Given the description of an element on the screen output the (x, y) to click on. 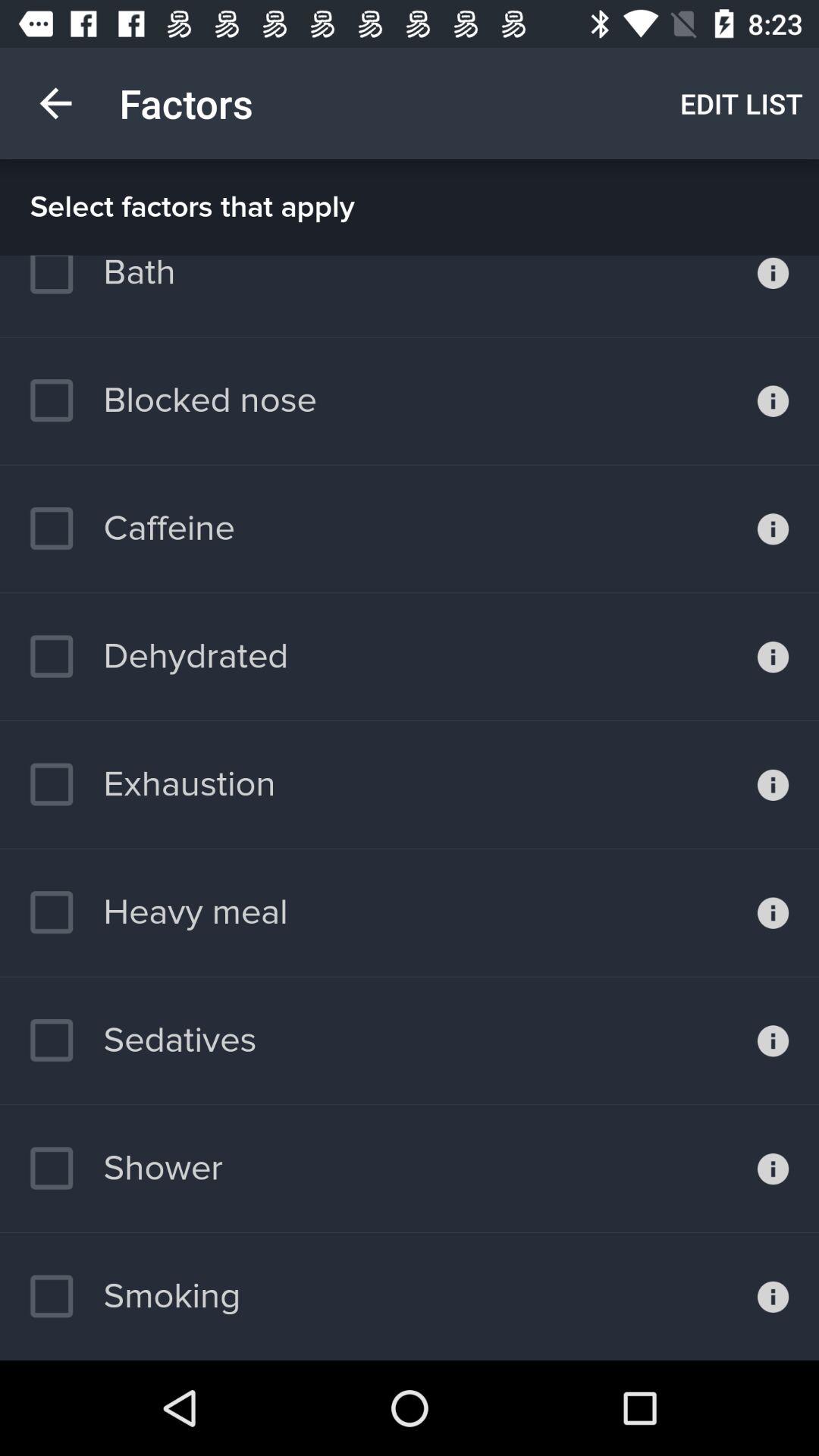
exhaustion information (773, 784)
